Given the description of an element on the screen output the (x, y) to click on. 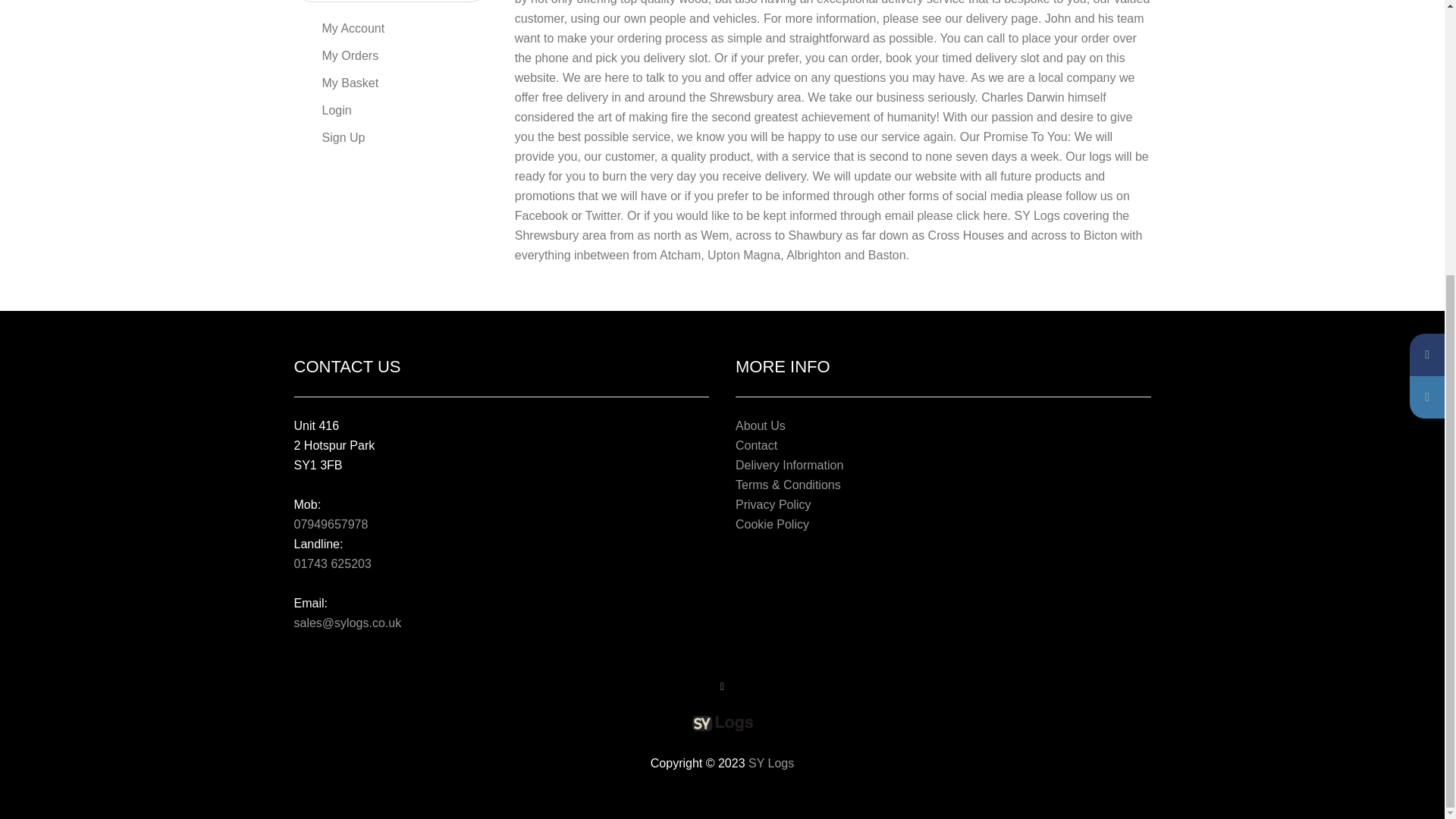
My Orders (389, 55)
My Account (389, 28)
Login (389, 110)
click here (981, 215)
Sign Up (389, 137)
07949657978 (331, 523)
My Basket (389, 83)
